Given the description of an element on the screen output the (x, y) to click on. 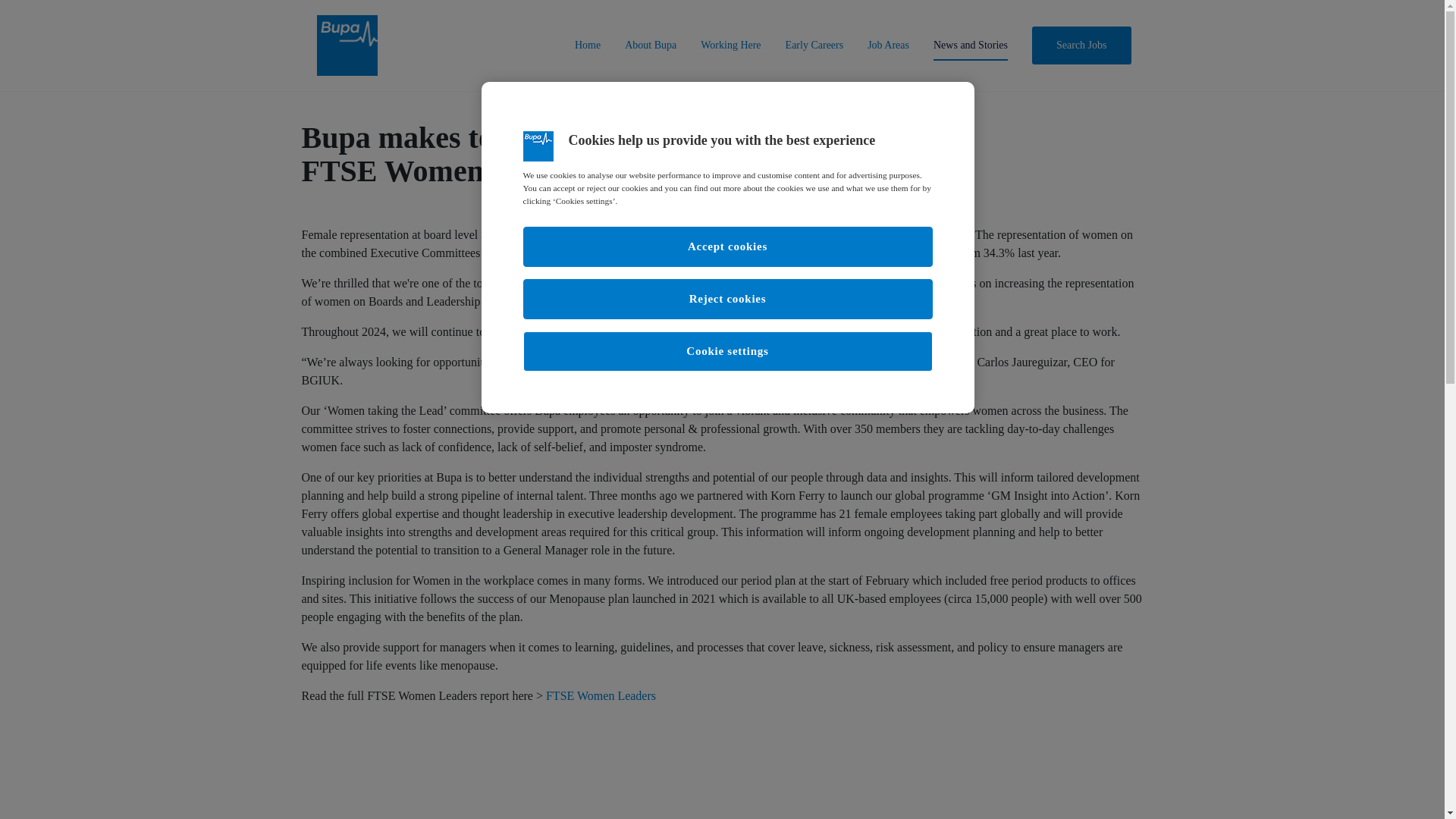
Cookie settings (727, 351)
News and Stories (970, 41)
Job Areas (887, 41)
Search Jobs (1081, 41)
Early Careers (815, 41)
FTSE Women Leaders Review (845, 282)
About Bupa (650, 41)
Accept cookies (727, 246)
Working Here (730, 41)
FTSE Women Leaders (601, 695)
